Given the description of an element on the screen output the (x, y) to click on. 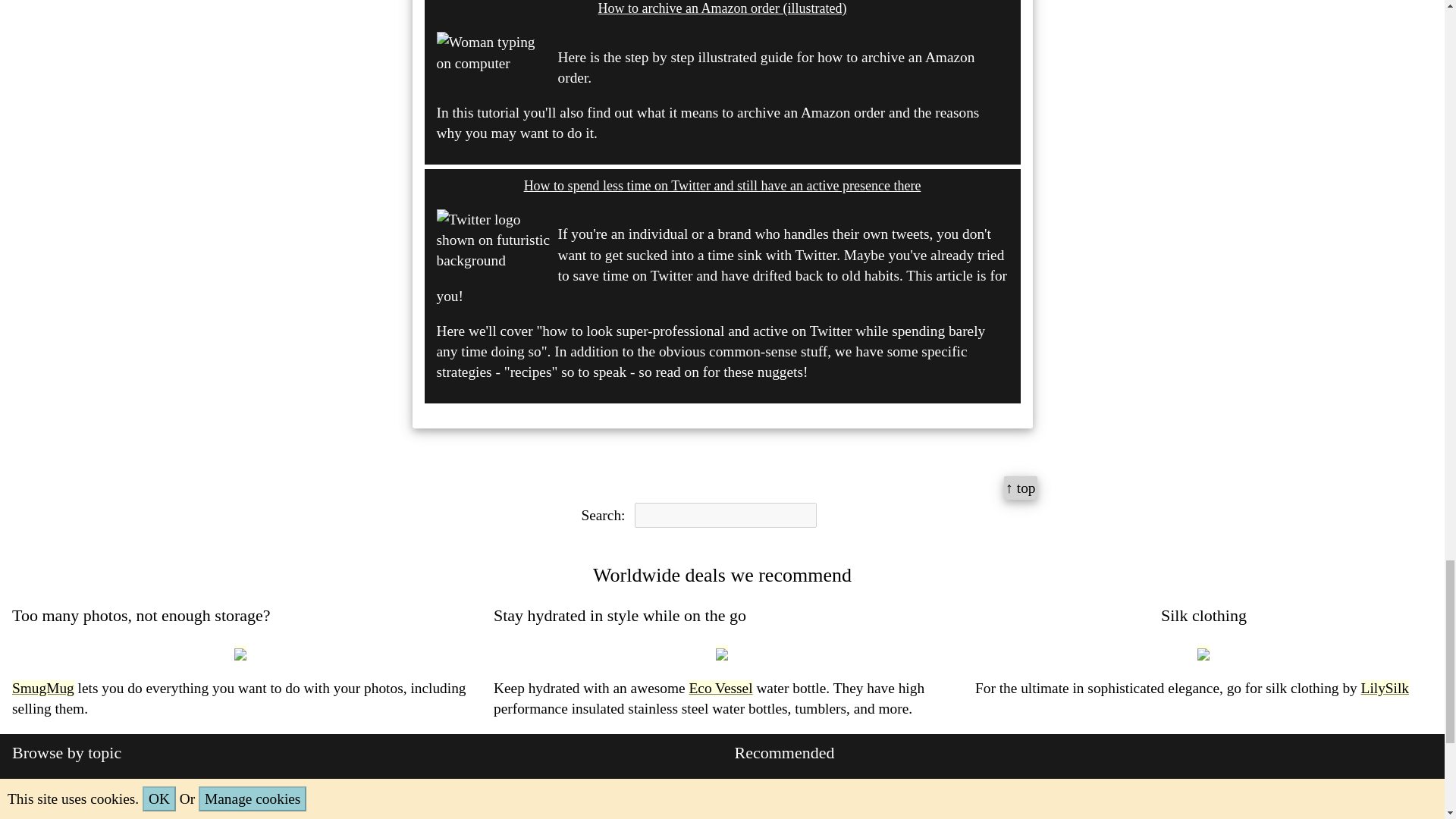
parenting (225, 795)
SmugMug (42, 688)
clothing (45, 795)
books (293, 795)
Eco Vessel (720, 688)
LilySilk (1385, 688)
entertainment (133, 795)
